Given the description of an element on the screen output the (x, y) to click on. 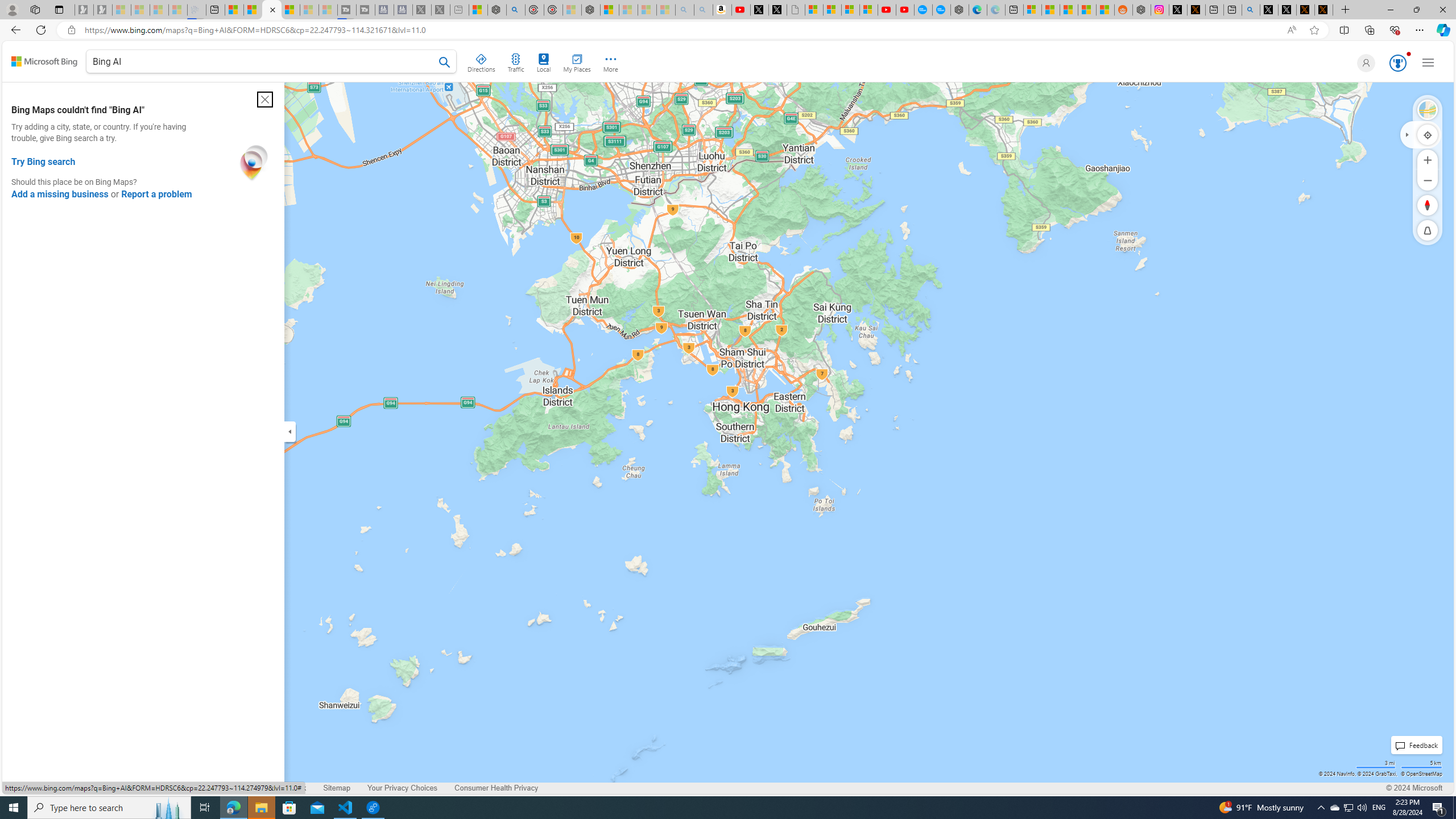
AutomationID: rh_meter (1397, 62)
Expand/Collapse Geochain (1406, 134)
Day 1: Arriving in Yemen (surreal to be here) - YouTube (740, 9)
Shanghai, China hourly forecast | Microsoft Weather (1069, 9)
Settings and quick links (1428, 62)
Road (1427, 109)
Bird's eye (1427, 109)
